Given the description of an element on the screen output the (x, y) to click on. 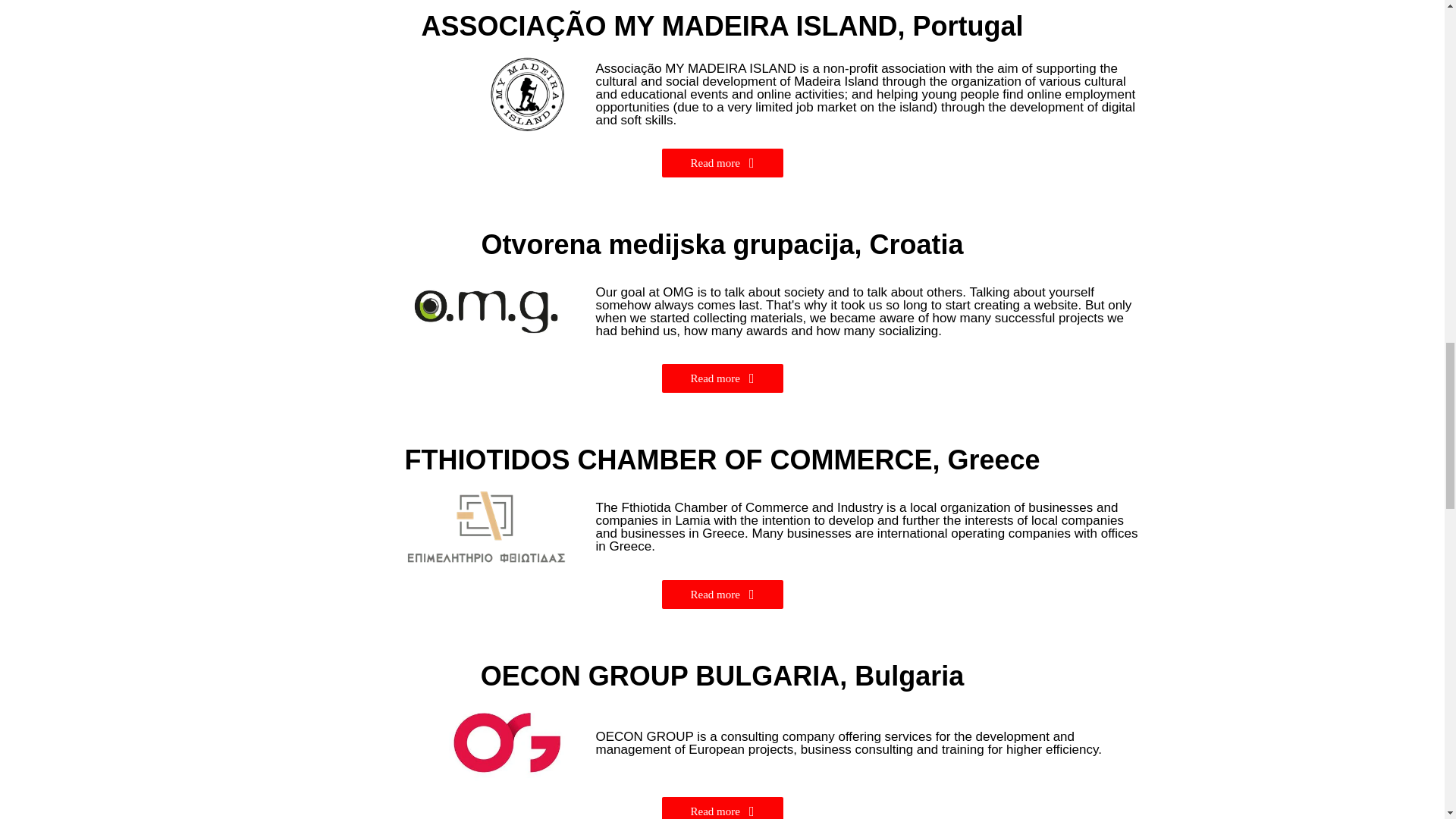
Read more (722, 162)
Read more (722, 378)
Read more (722, 594)
Read more (722, 807)
